Given the description of an element on the screen output the (x, y) to click on. 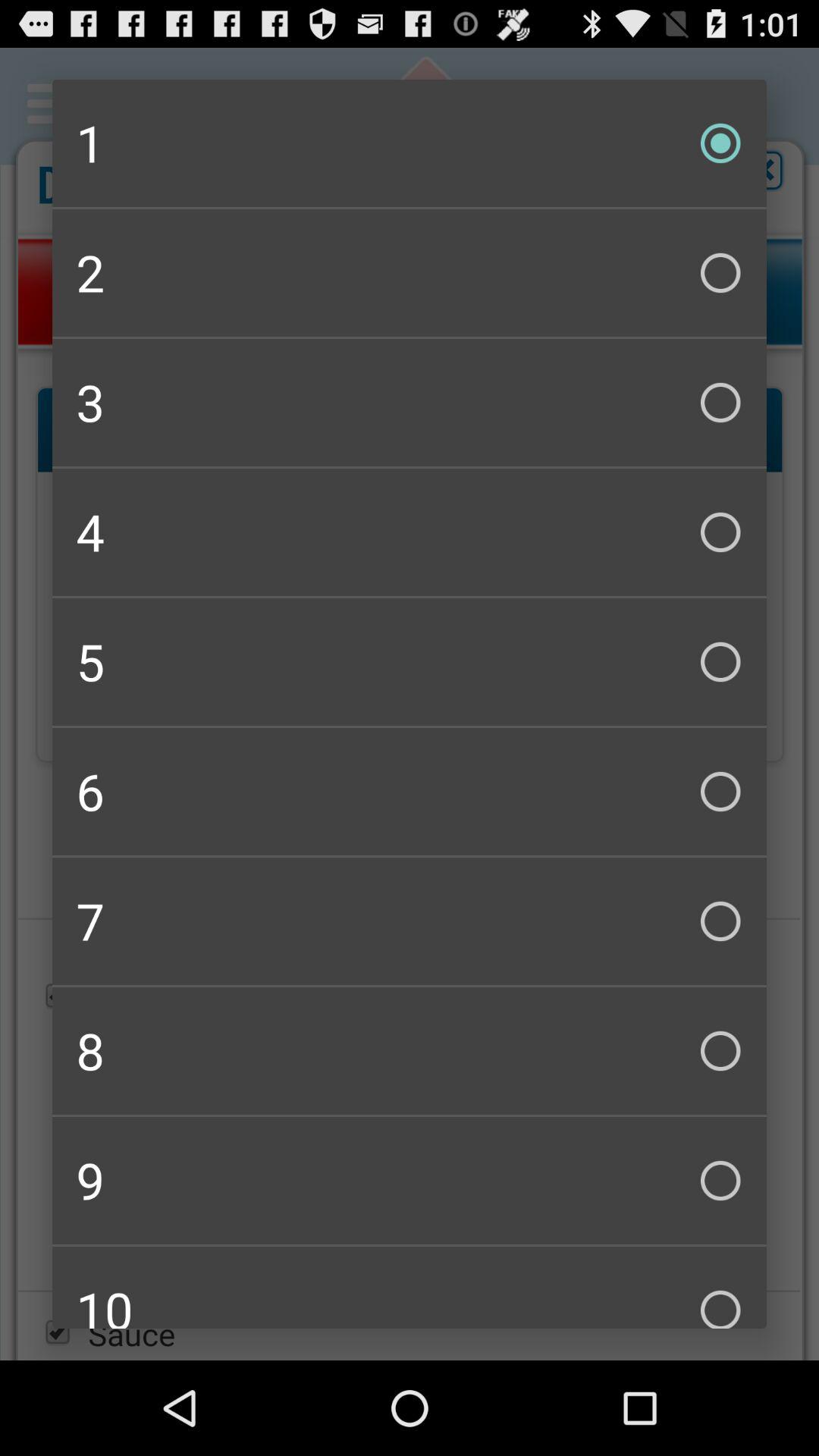
select item below the 1 icon (409, 272)
